Given the description of an element on the screen output the (x, y) to click on. 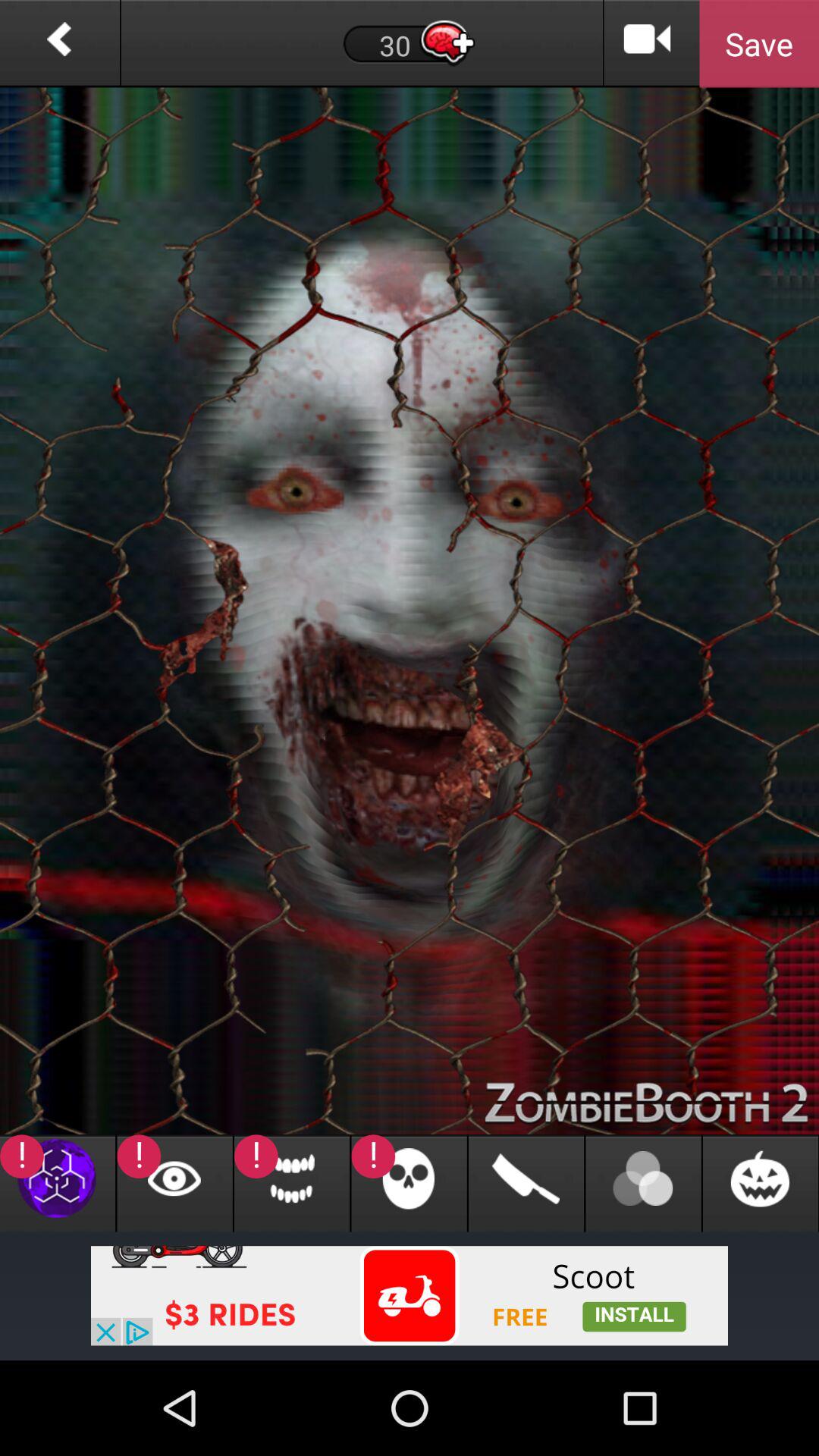
click videplay button (647, 43)
